Given the description of an element on the screen output the (x, y) to click on. 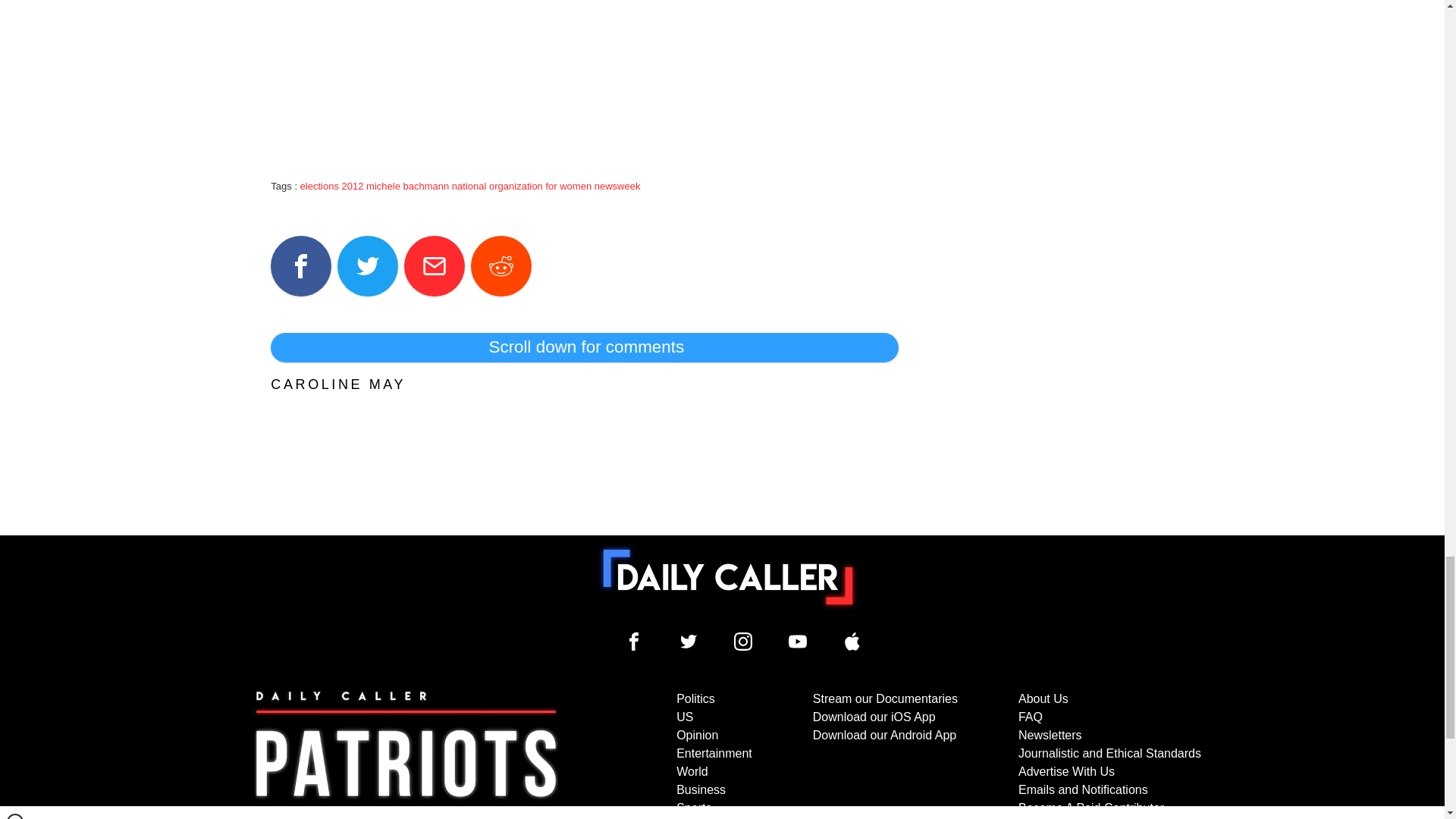
Subscribe to The Daily Caller (405, 754)
Daily Caller Instagram (742, 641)
Daily Caller Facebook (633, 641)
To home page (727, 576)
Daily Caller Twitter (688, 641)
Scroll down for comments (584, 346)
Daily Caller YouTube (797, 641)
Daily Caller YouTube (852, 641)
